Given the description of an element on the screen output the (x, y) to click on. 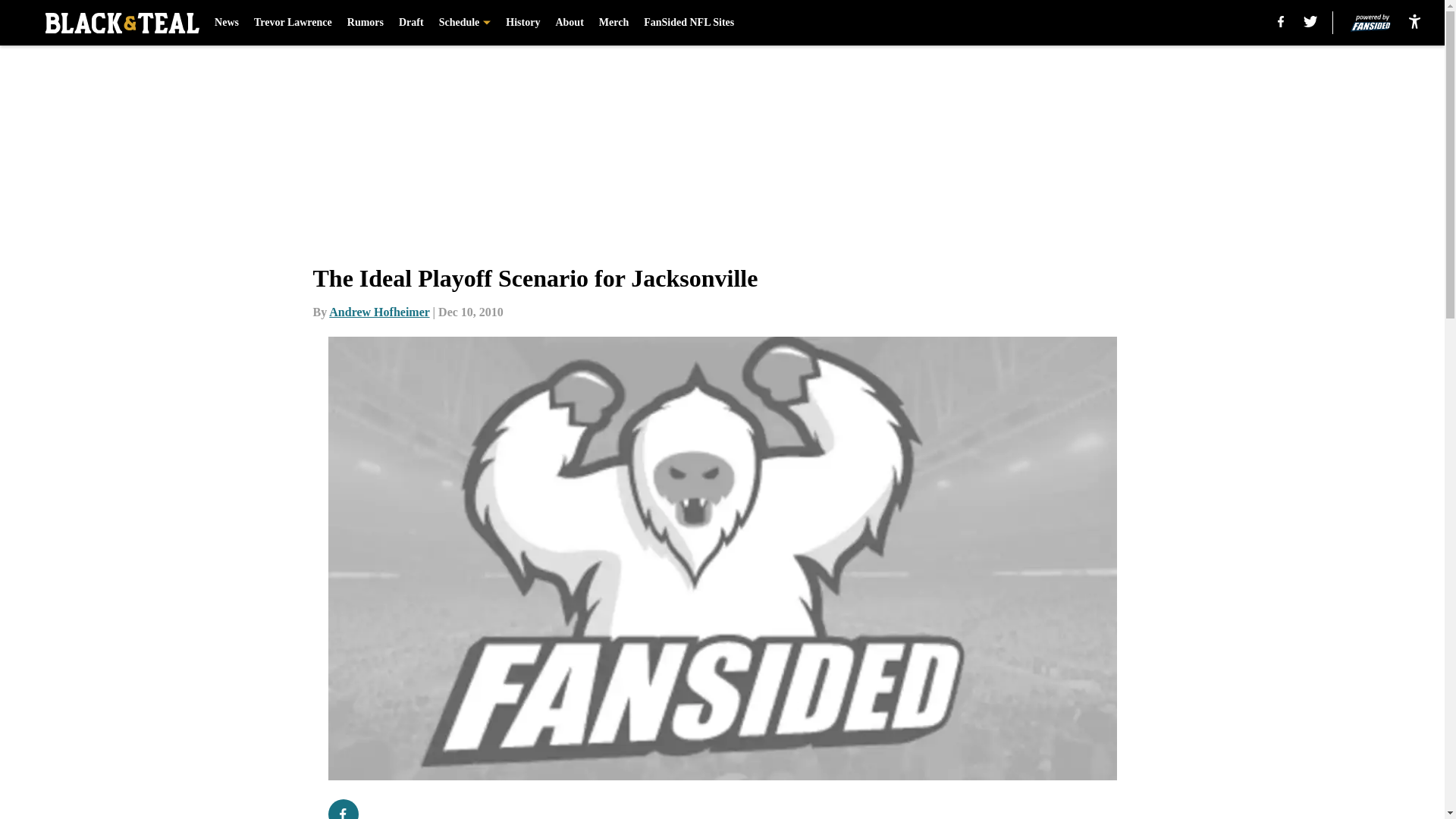
Trevor Lawrence (292, 22)
Andrew Hofheimer (379, 311)
Draft (410, 22)
About (568, 22)
News (226, 22)
Merch (613, 22)
History (522, 22)
Rumors (365, 22)
FanSided NFL Sites (688, 22)
